Given the description of an element on the screen output the (x, y) to click on. 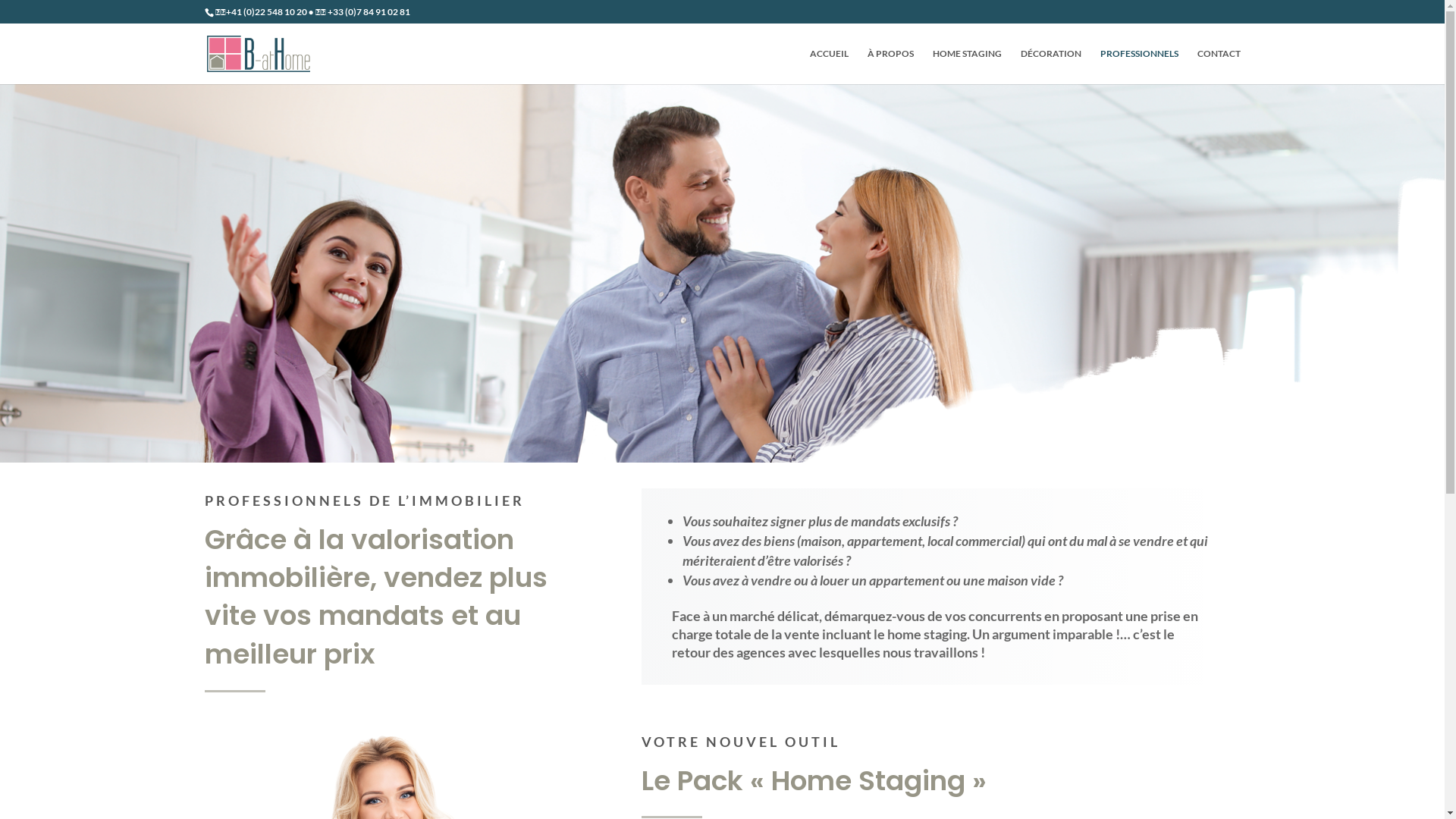
ACCUEIL Element type: text (828, 66)
HOME STAGING Element type: text (966, 66)
PROFESSIONNELS Element type: text (1138, 66)
CONTACT Element type: text (1217, 66)
